Given the description of an element on the screen output the (x, y) to click on. 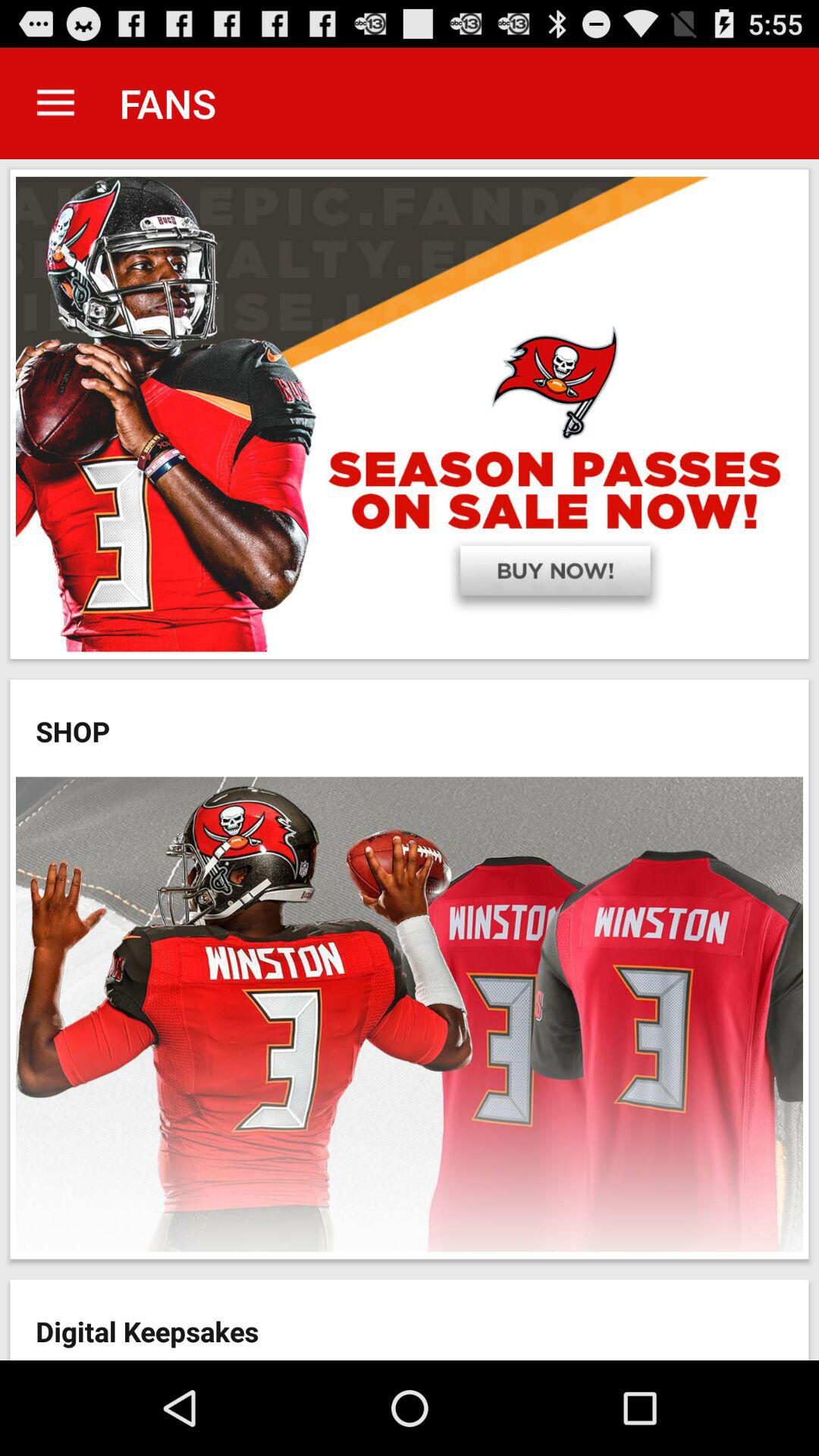
open the icon to the left of fans icon (55, 103)
